Given the description of an element on the screen output the (x, y) to click on. 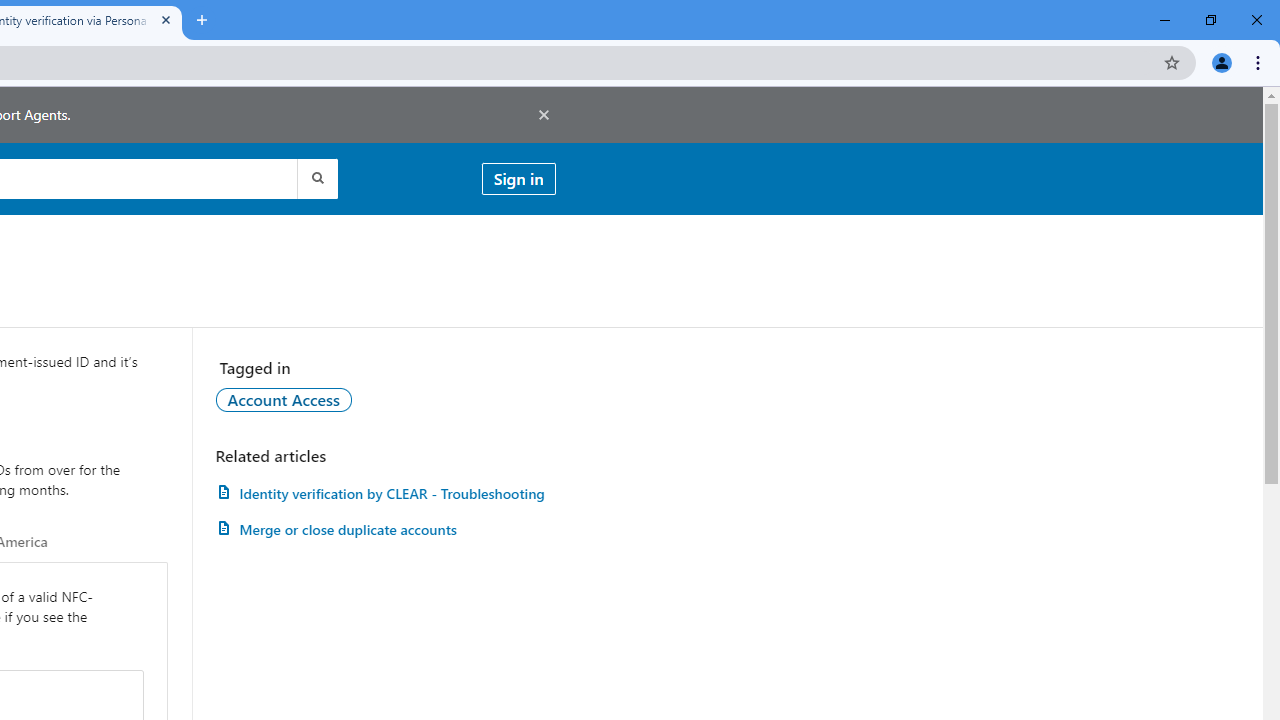
Merge or close duplicate accounts (385, 529)
Submit search (316, 178)
Account Access (283, 399)
AutomationID: article-link-a1337200 (385, 529)
AutomationID: topic-link-a151002 (283, 399)
Identity verification by CLEAR - Troubleshooting (385, 493)
